Given the description of an element on the screen output the (x, y) to click on. 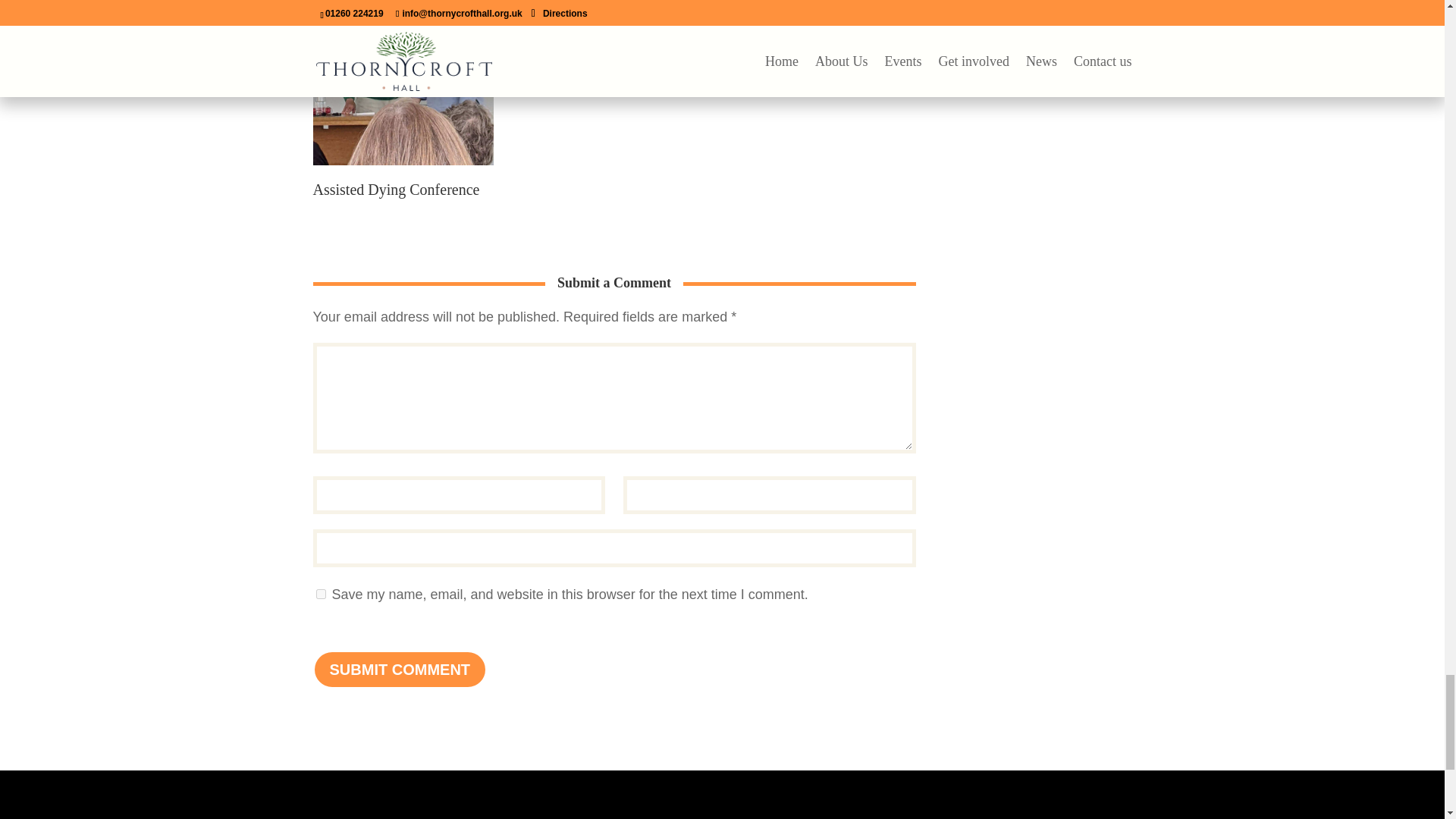
yes (319, 593)
Advance reading for the Law Conference (823, 77)
Advance reading for the Law Conference (823, 77)
Assisted Dying Conference (403, 170)
Advance reading for the Law Conference (825, 48)
Submit Comment (399, 669)
Assisted Dying Conference (396, 189)
Submit Comment (399, 669)
Assisted Dying Conference (396, 189)
